Given the description of an element on the screen output the (x, y) to click on. 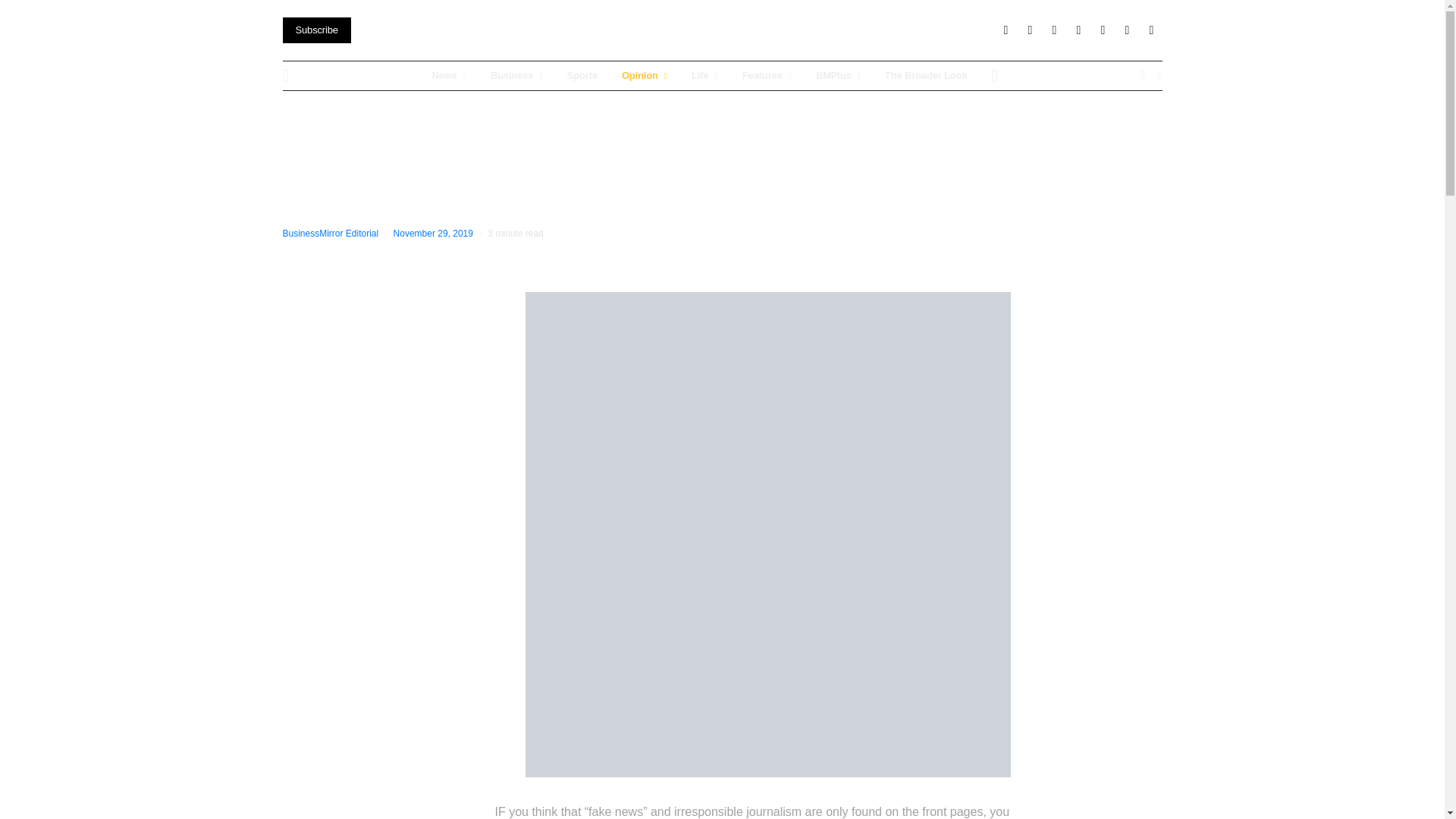
View all posts by BusinessMirror Editorial (330, 233)
